Given the description of an element on the screen output the (x, y) to click on. 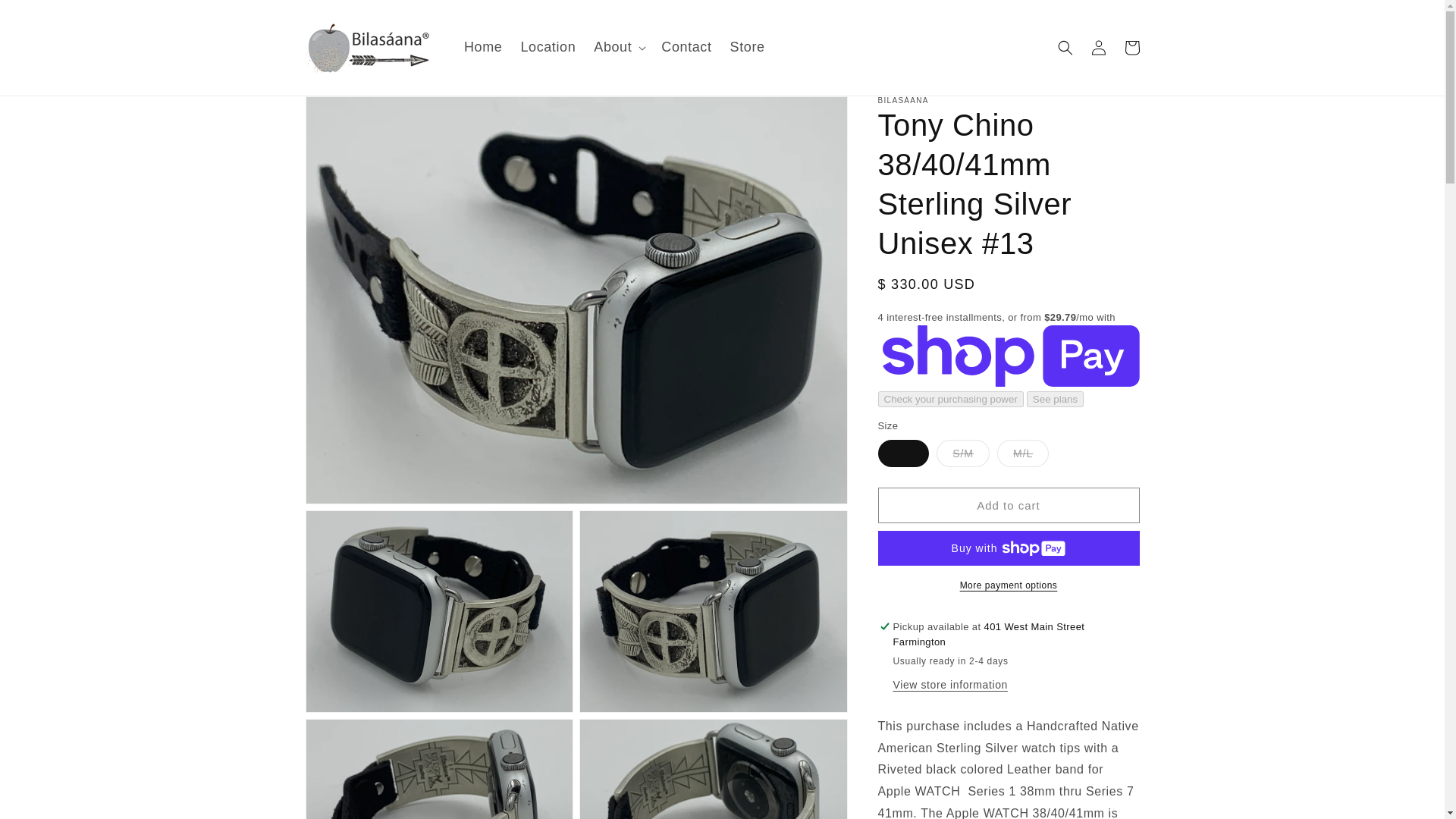
Store (747, 47)
Log in (1098, 47)
Cart (1131, 47)
Location (548, 47)
Contact (686, 47)
Skip to content (45, 17)
Home (482, 47)
